Given the description of an element on the screen output the (x, y) to click on. 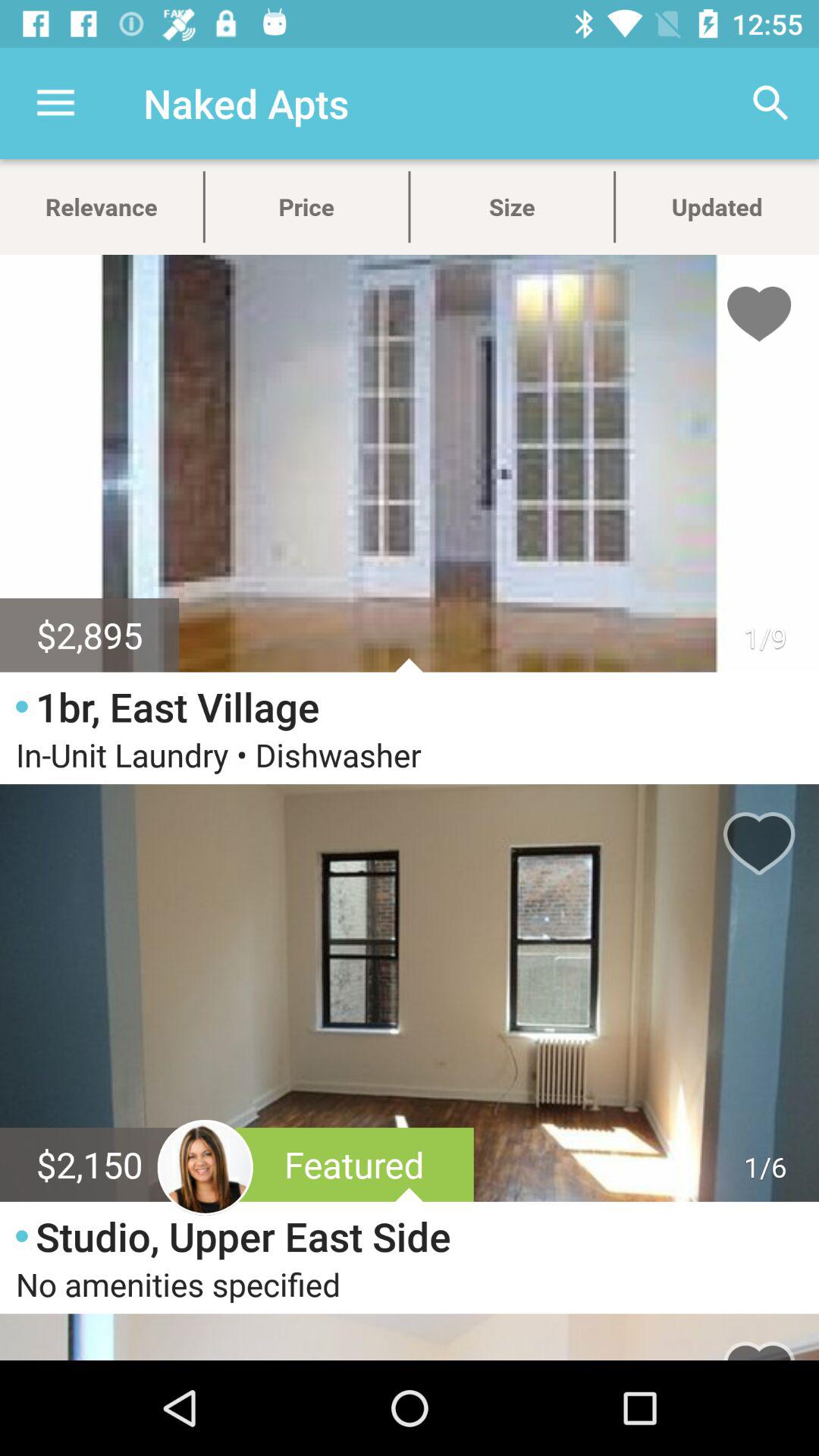
select size (512, 206)
